Given the description of an element on the screen output the (x, y) to click on. 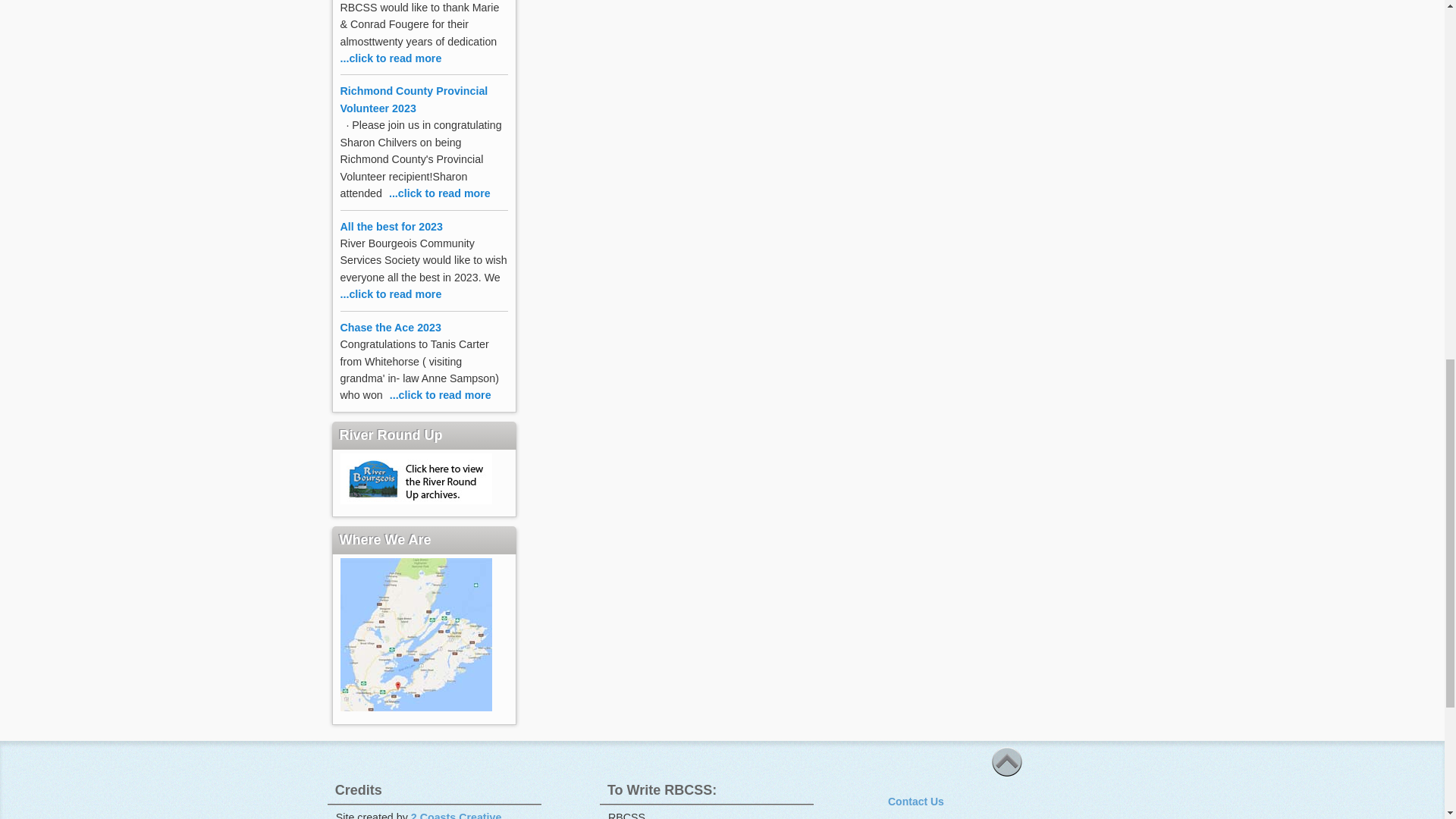
Richmond County Provincial Volunteer 2023 (413, 99)
River Bourgeois Visitation Parlor (419, 66)
